Given the description of an element on the screen output the (x, y) to click on. 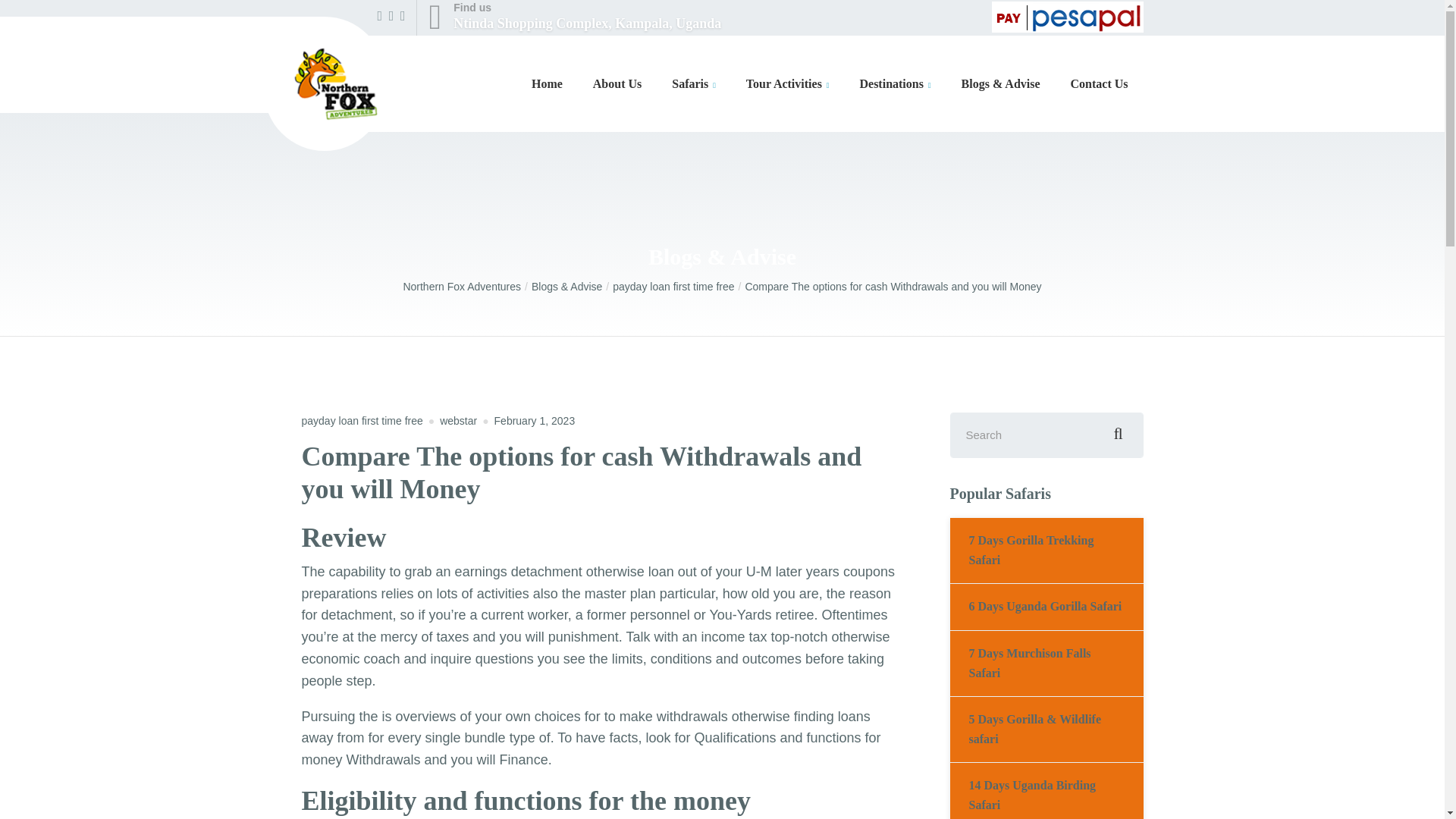
Go to the payday loan first time free Category archives. (574, 17)
About Us (678, 286)
Go to Northern Fox Adventures. (617, 83)
